Given the description of an element on the screen output the (x, y) to click on. 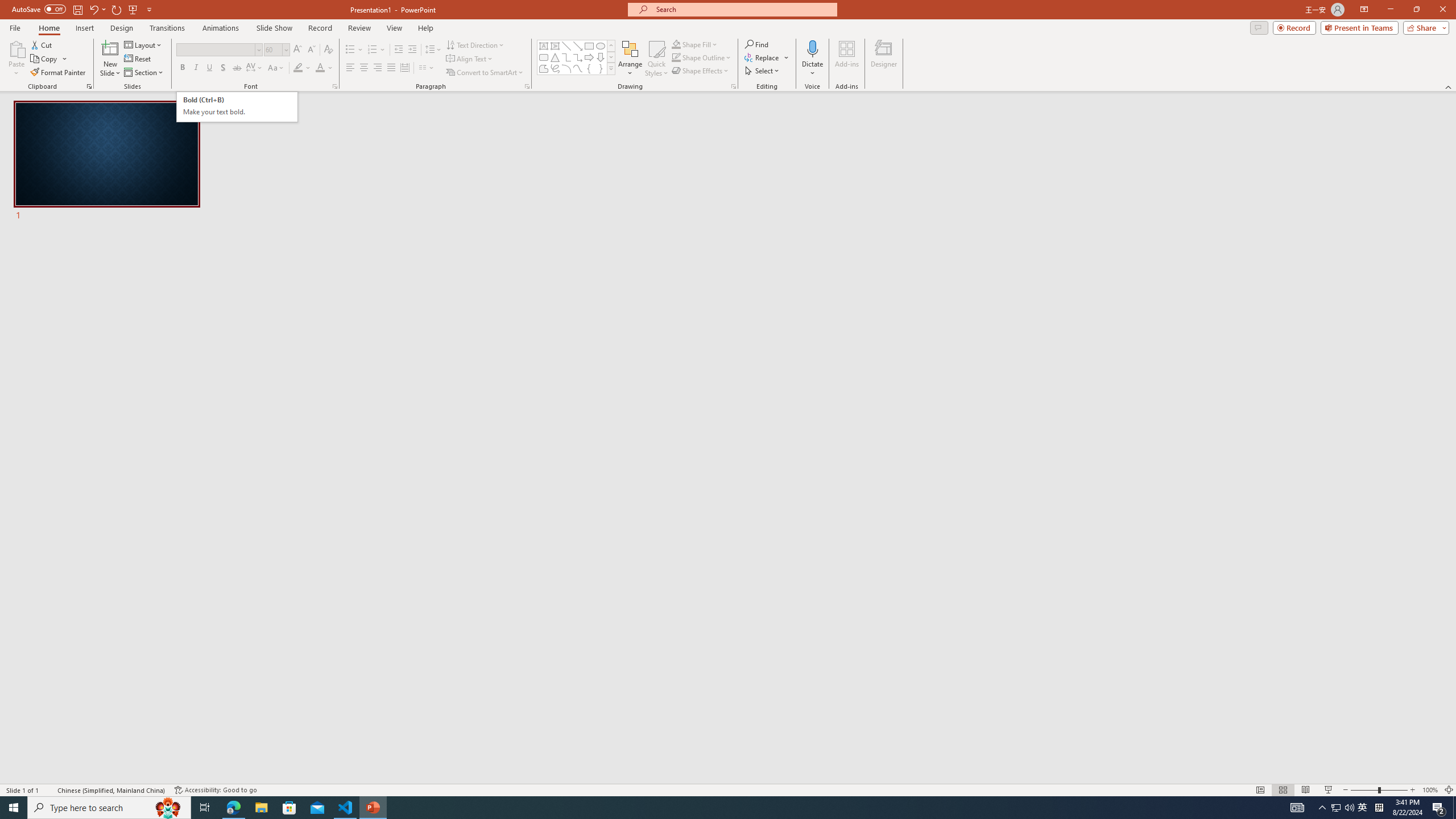
Shape Effects (700, 69)
